Given the description of an element on the screen output the (x, y) to click on. 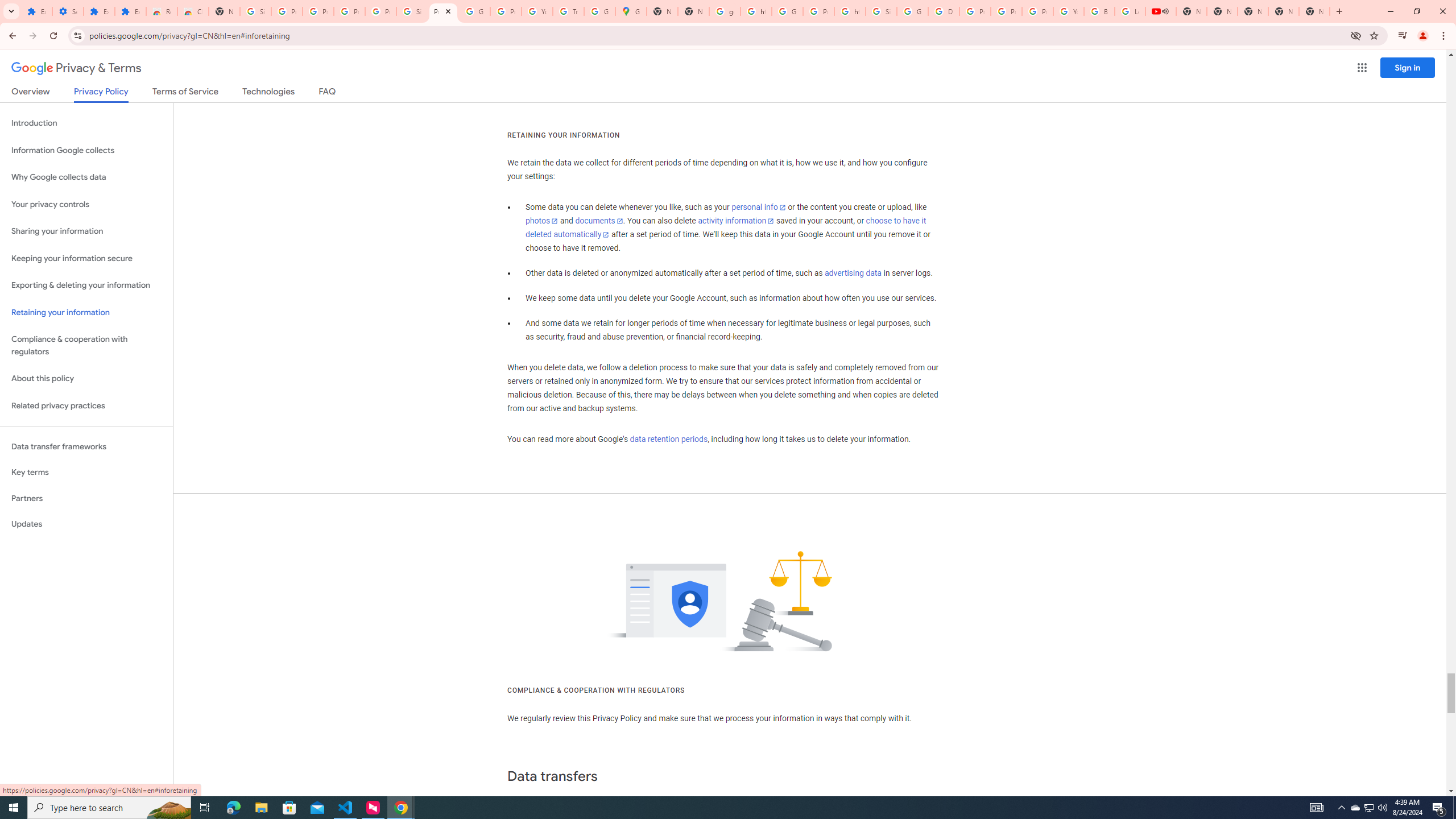
Reviews: Helix Fruit Jump Arcade Game (161, 11)
Compliance & cooperation with regulators (86, 345)
Chrome Web Store - Themes (192, 11)
Browse Chrome as a guest - Computer - Google Chrome Help (1098, 11)
Extensions (130, 11)
Sign in - Google Accounts (881, 11)
Extensions (98, 11)
Key terms (86, 472)
New Tab (1314, 11)
